Given the description of an element on the screen output the (x, y) to click on. 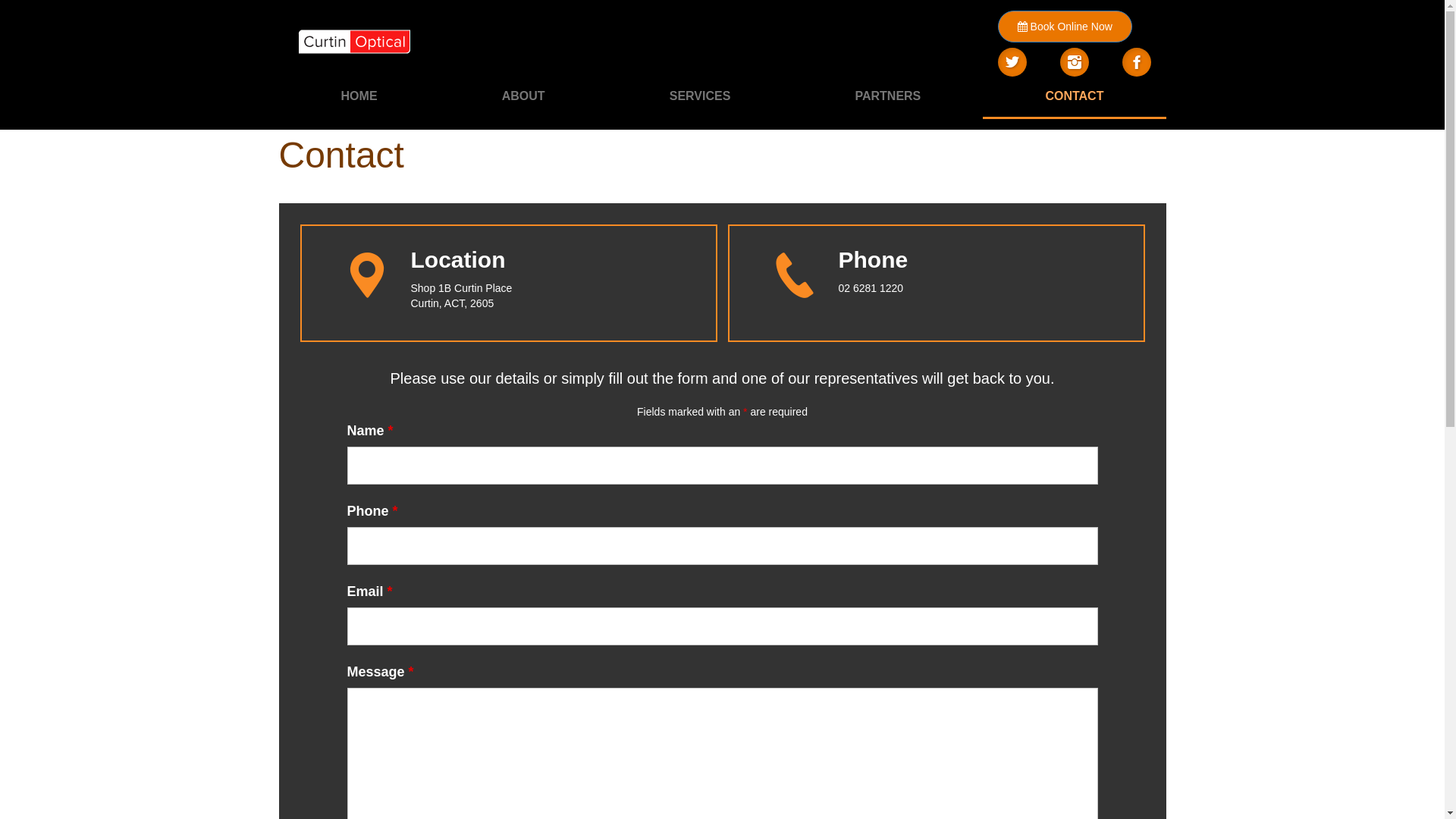
ABOUT Element type: text (523, 96)
PARTNERS Element type: text (887, 96)
CONTACT Element type: text (1073, 97)
SERVICES Element type: text (700, 96)
HOME Element type: text (359, 96)
